Given the description of an element on the screen output the (x, y) to click on. 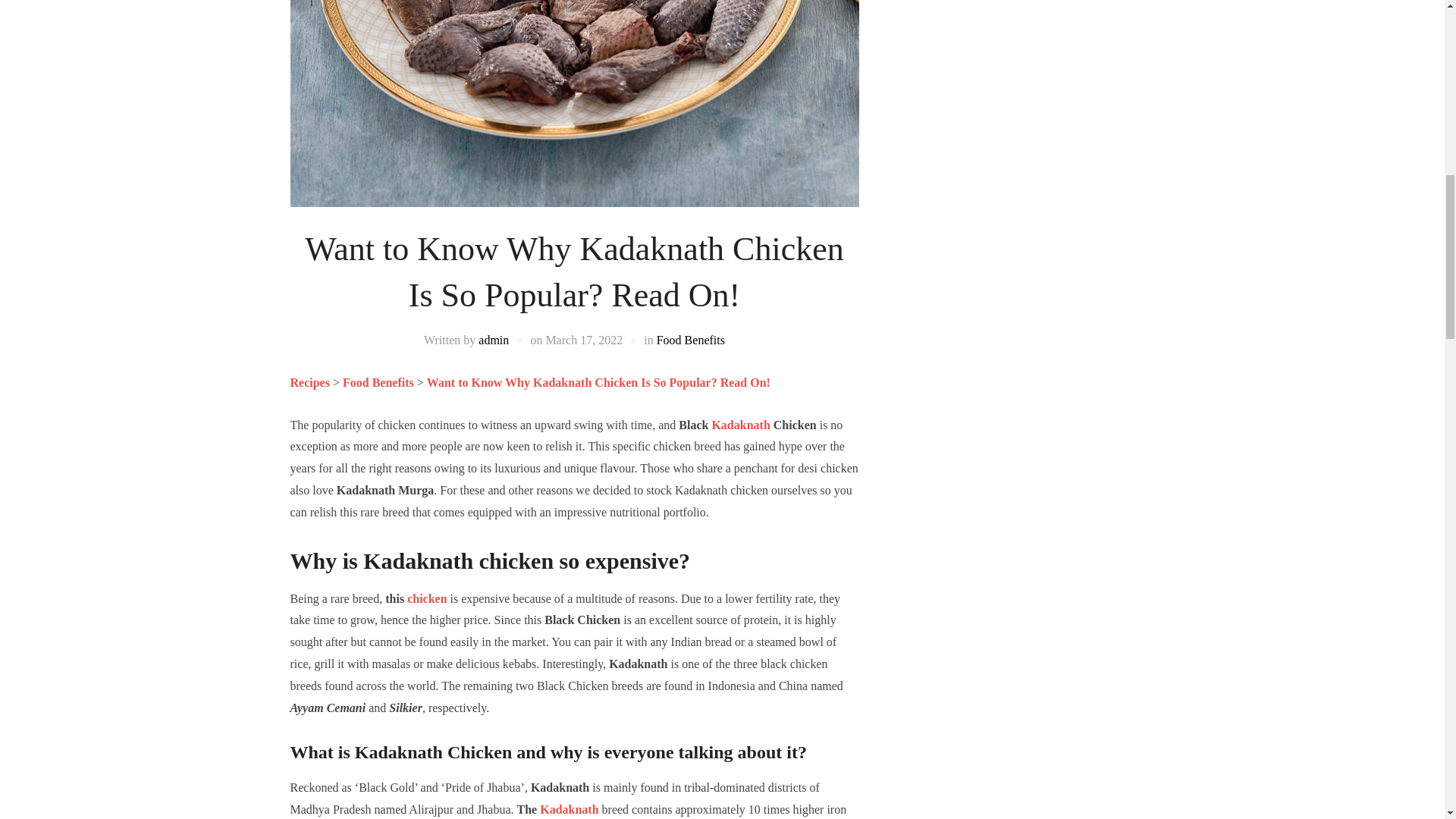
Food Benefits (377, 382)
Kadaknath (569, 809)
Recipes (309, 382)
Posts by admin (493, 339)
Want to Know Why Kadaknath Chicken Is So Popular? Read On! (598, 382)
Go to Recipes. (309, 382)
Kadaknath (740, 424)
Food Benefits (690, 339)
Go to the Food Benefits Category archives. (377, 382)
